Given the description of an element on the screen output the (x, y) to click on. 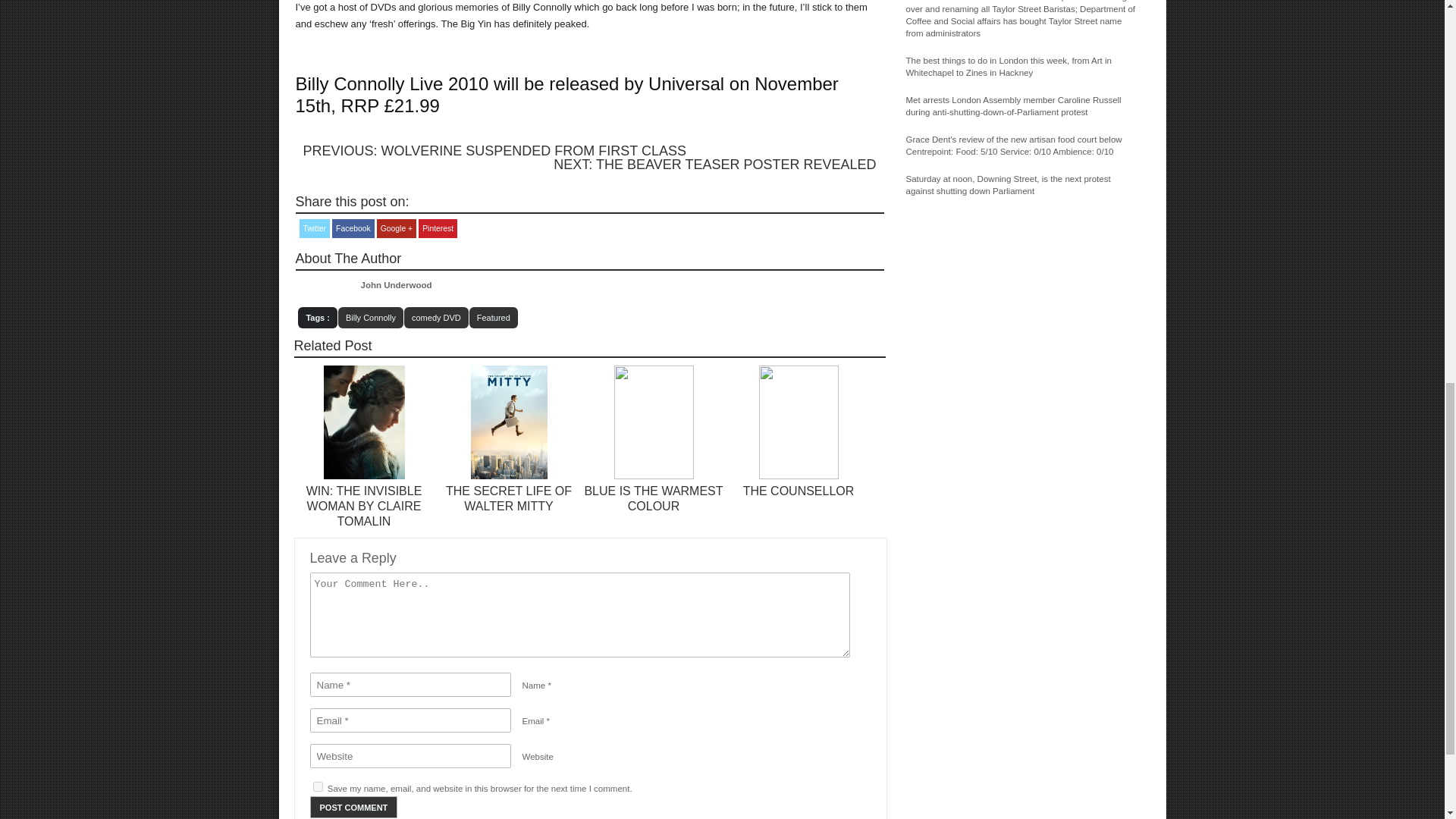
Posts by John Underwood (396, 284)
Billy Connolly (370, 317)
Post Comment (352, 807)
Share on Facebook! (352, 228)
WIN: The Invisible Woman by Claire Tomalin (363, 475)
The Counsellor (798, 490)
NEXT: THE BEAVER TEASER POSTER REVEALED (714, 164)
Twitter (314, 228)
Blue Is the Warmest Colour (654, 475)
The Secret Life of Walter Mitty (508, 475)
Tweet this! (314, 228)
Facebook (352, 228)
PREVIOUS: WOLVERINE SUSPENDED FROM FIRST CLASS (493, 150)
yes (317, 786)
WIN: The Invisible Woman by Claire Tomalin (363, 506)
